Given the description of an element on the screen output the (x, y) to click on. 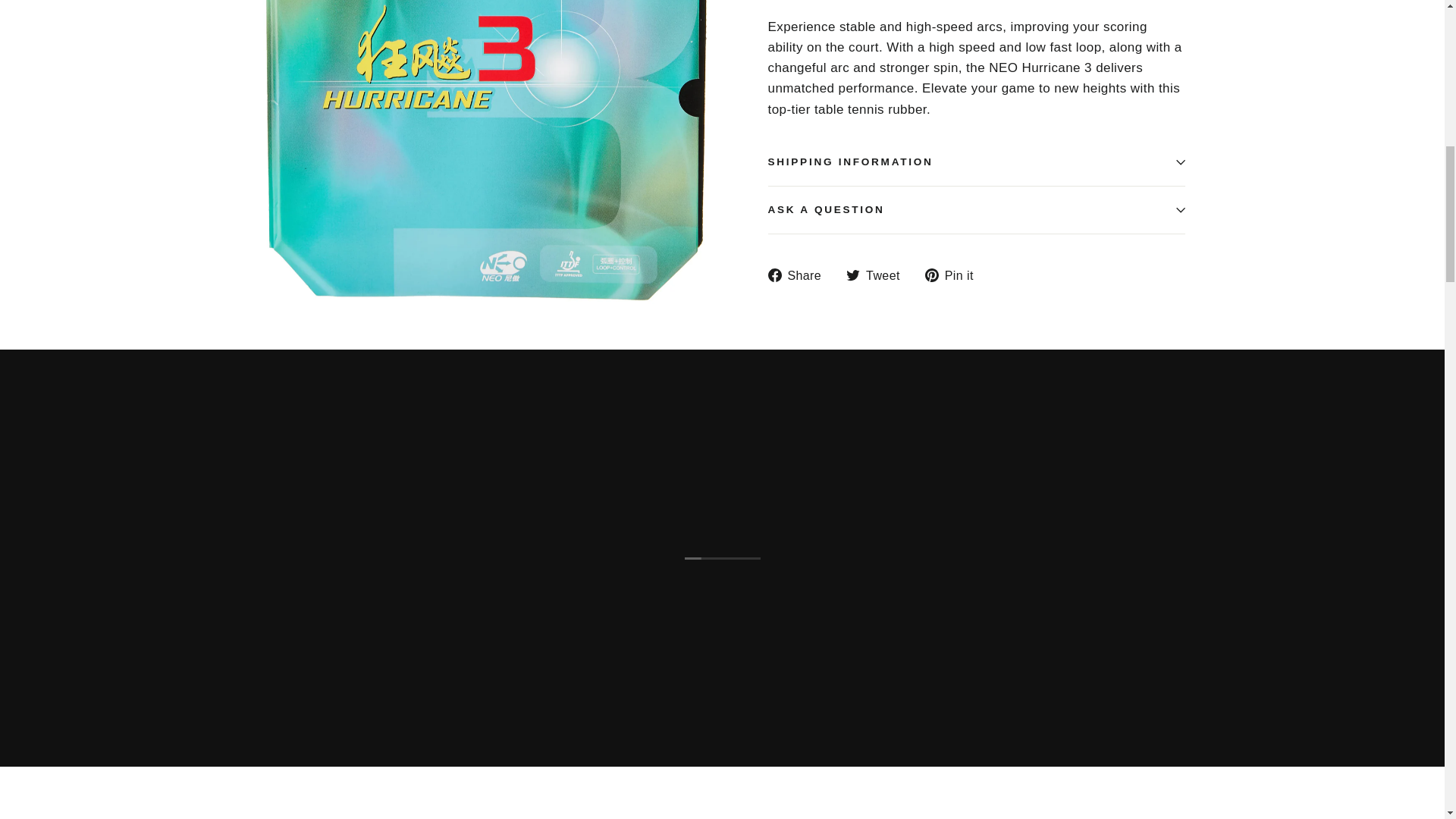
Pin on Pinterest (954, 275)
Tweet on Twitter (878, 275)
twitter (852, 274)
Share on Facebook (799, 275)
